Given the description of an element on the screen output the (x, y) to click on. 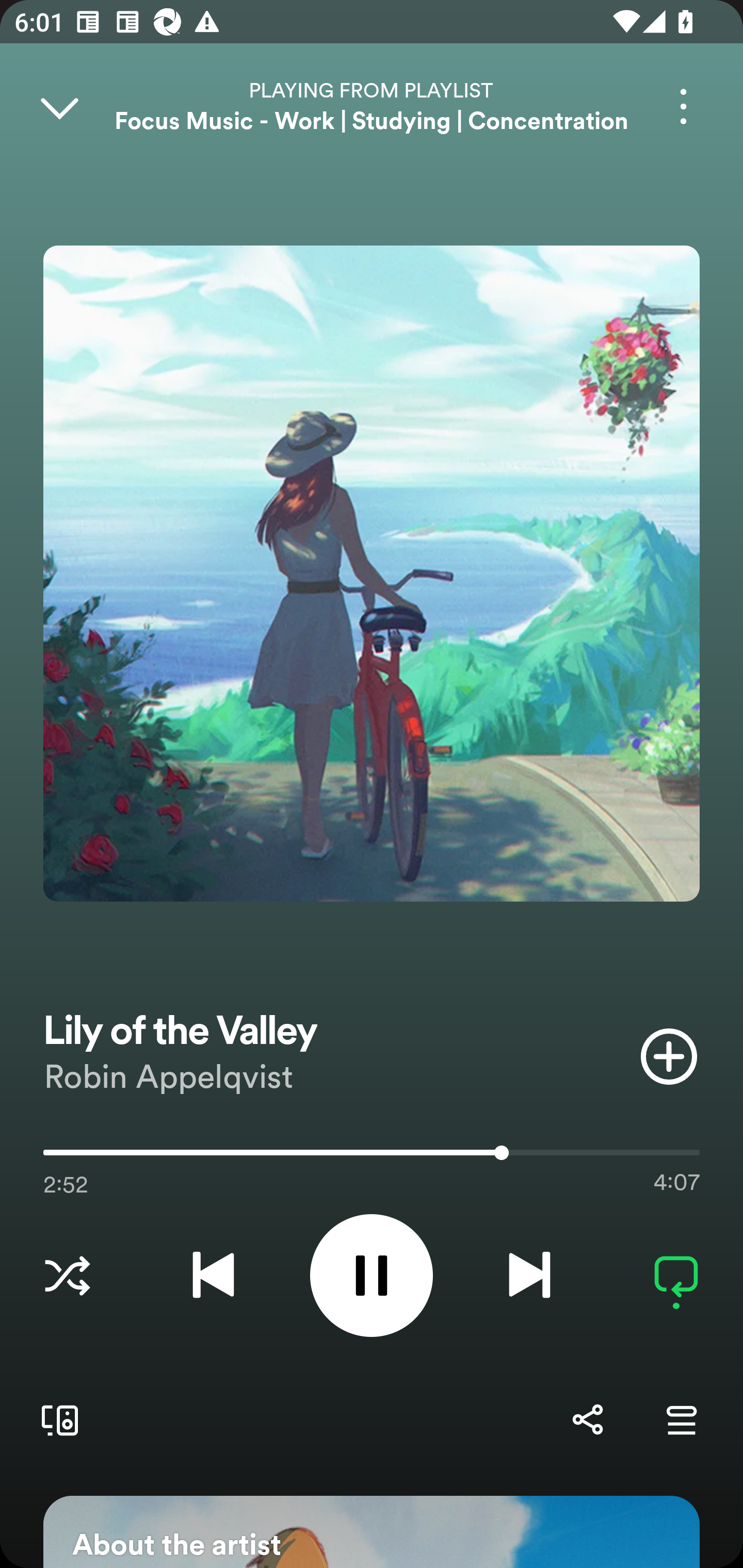
Close (59, 106)
More options for song Lily of the Valley (683, 106)
Add item (669, 1056)
2:52 4:07 172812.0 Use volume keys to adjust (371, 1157)
Pause (371, 1275)
Previous (212, 1275)
Next (529, 1275)
Choose a Listening Mode (66, 1275)
Repeat (676, 1275)
Share (587, 1419)
Go to Queue (681, 1419)
Connect to a device. Opens the devices menu (55, 1419)
About the artist (371, 1531)
